Given the description of an element on the screen output the (x, y) to click on. 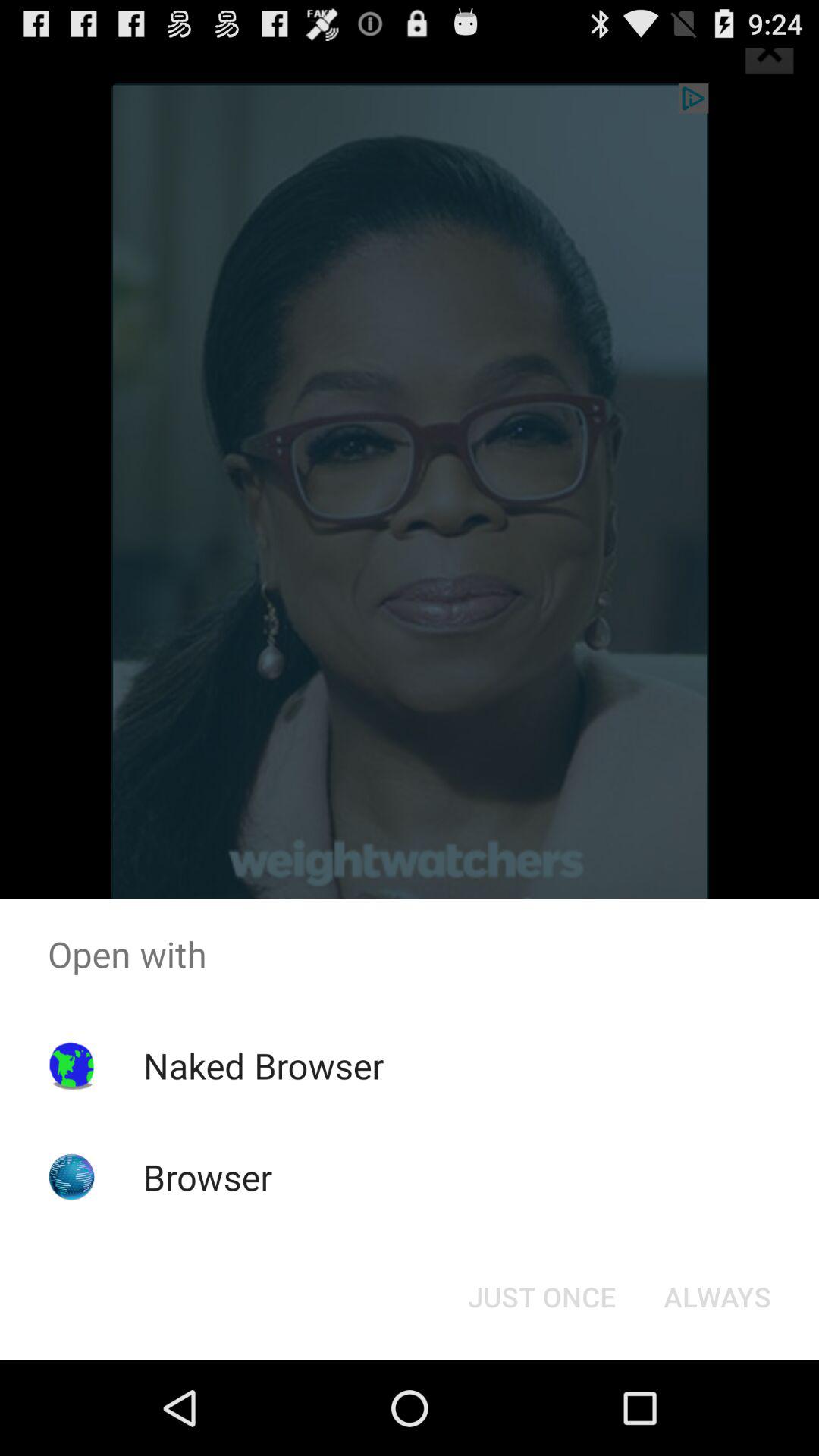
scroll until always button (717, 1296)
